Given the description of an element on the screen output the (x, y) to click on. 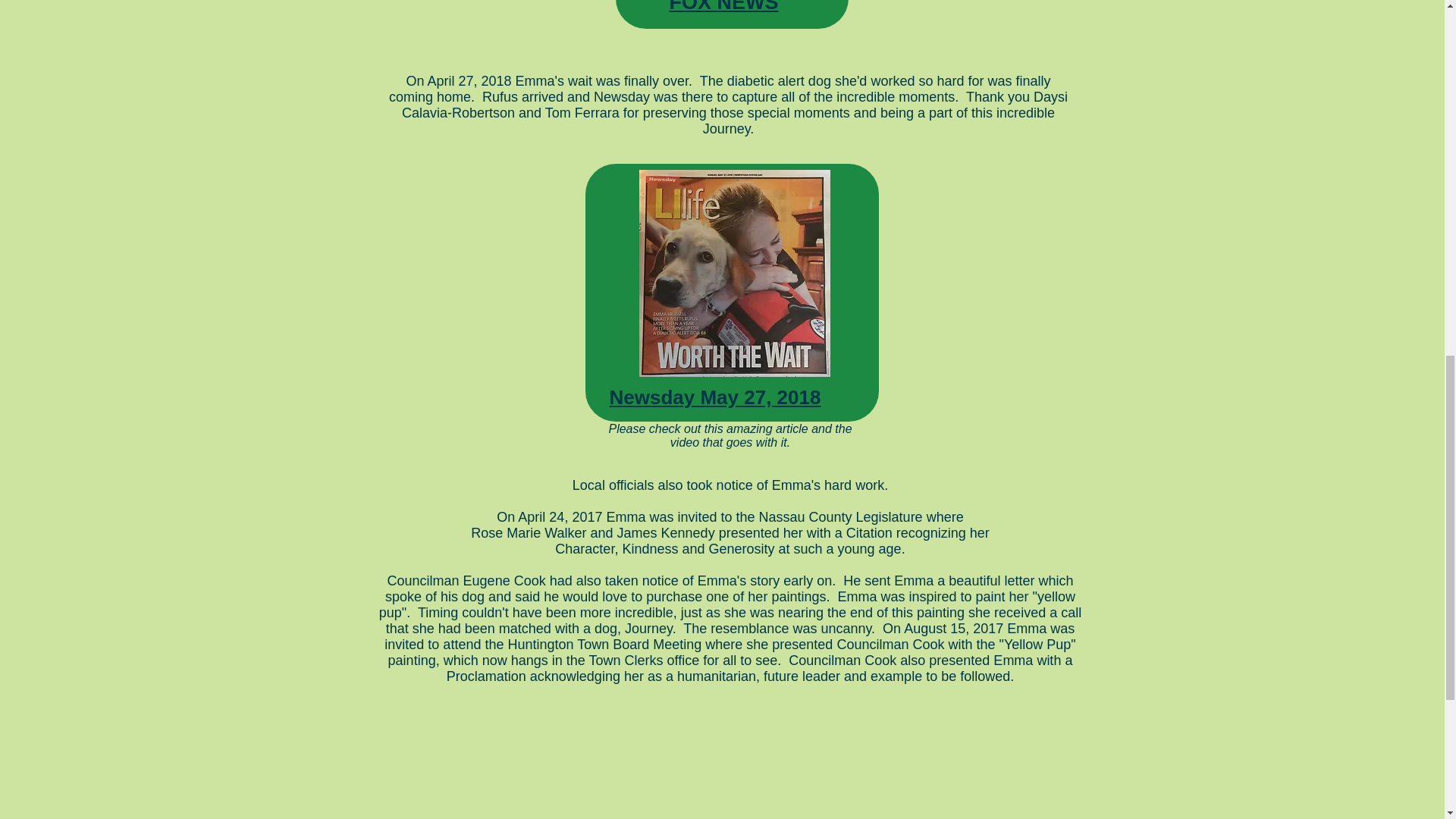
FOX NEWS (722, 6)
Newsday May 27, 2018 (715, 397)
